Given the description of an element on the screen output the (x, y) to click on. 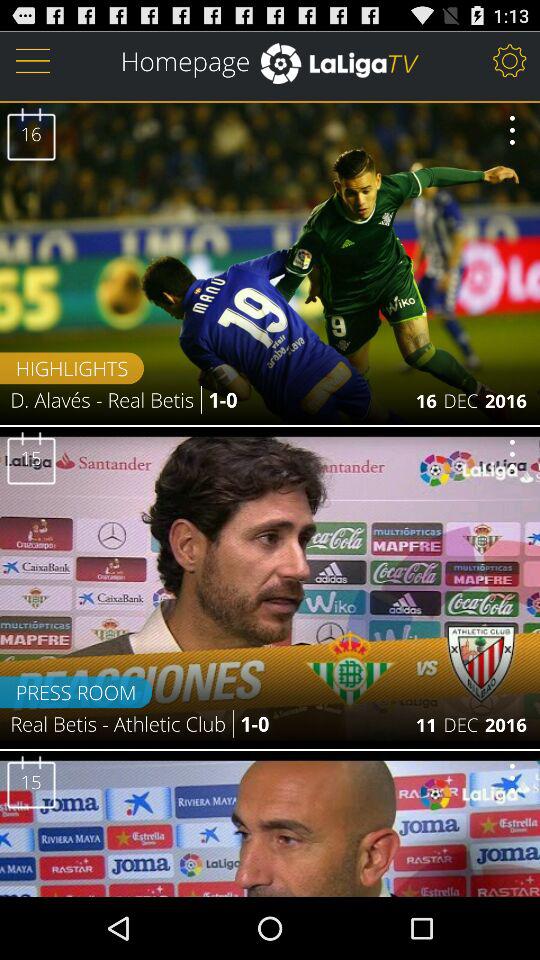
click  on the top left icon (33, 60)
select the number 15 in the bottom image (30, 782)
